Given the description of an element on the screen output the (x, y) to click on. 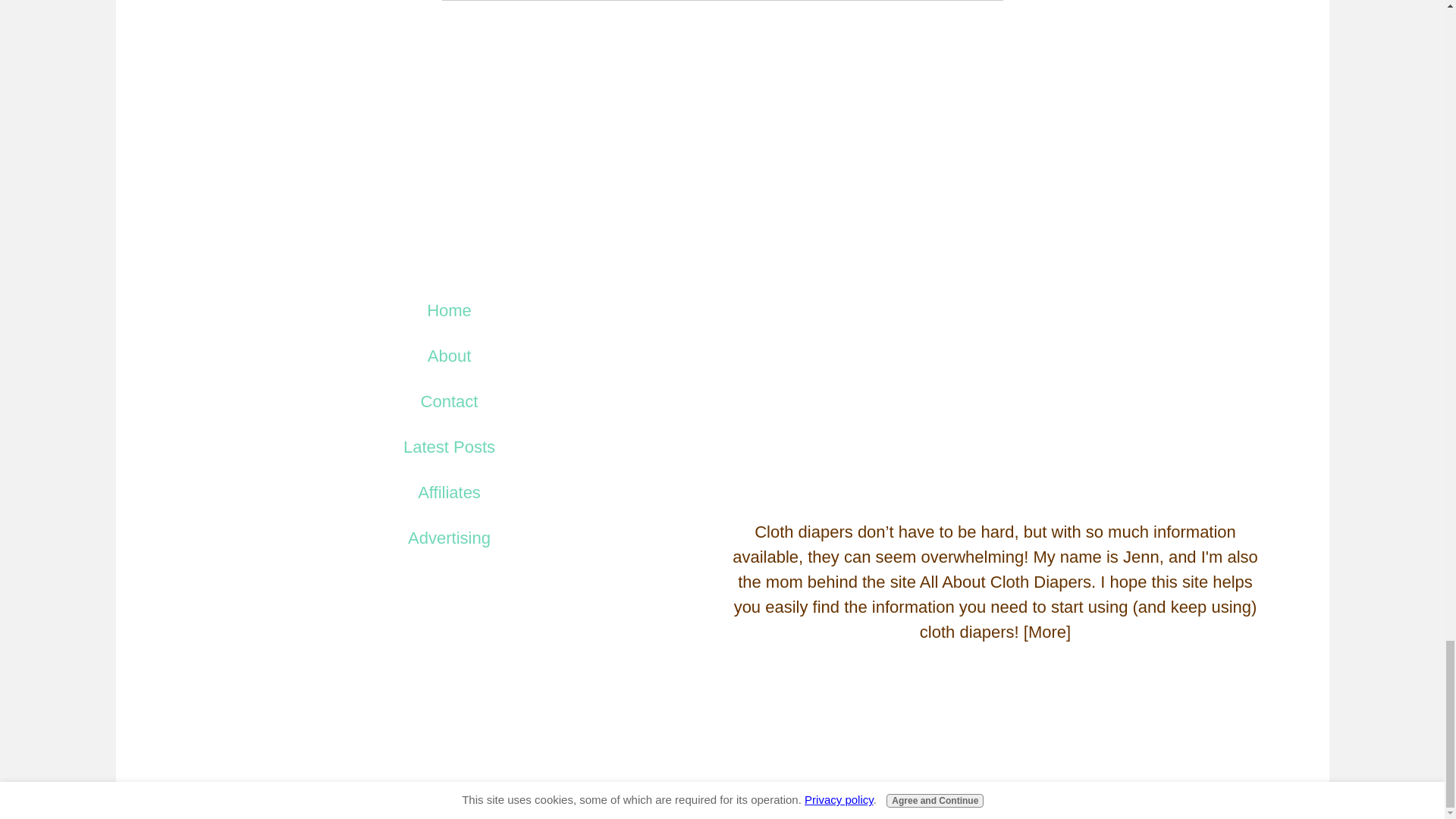
Latest Posts (449, 447)
Contact (449, 402)
About (449, 356)
Affiliates (448, 493)
Home (448, 311)
Advertising (448, 539)
